Given the description of an element on the screen output the (x, y) to click on. 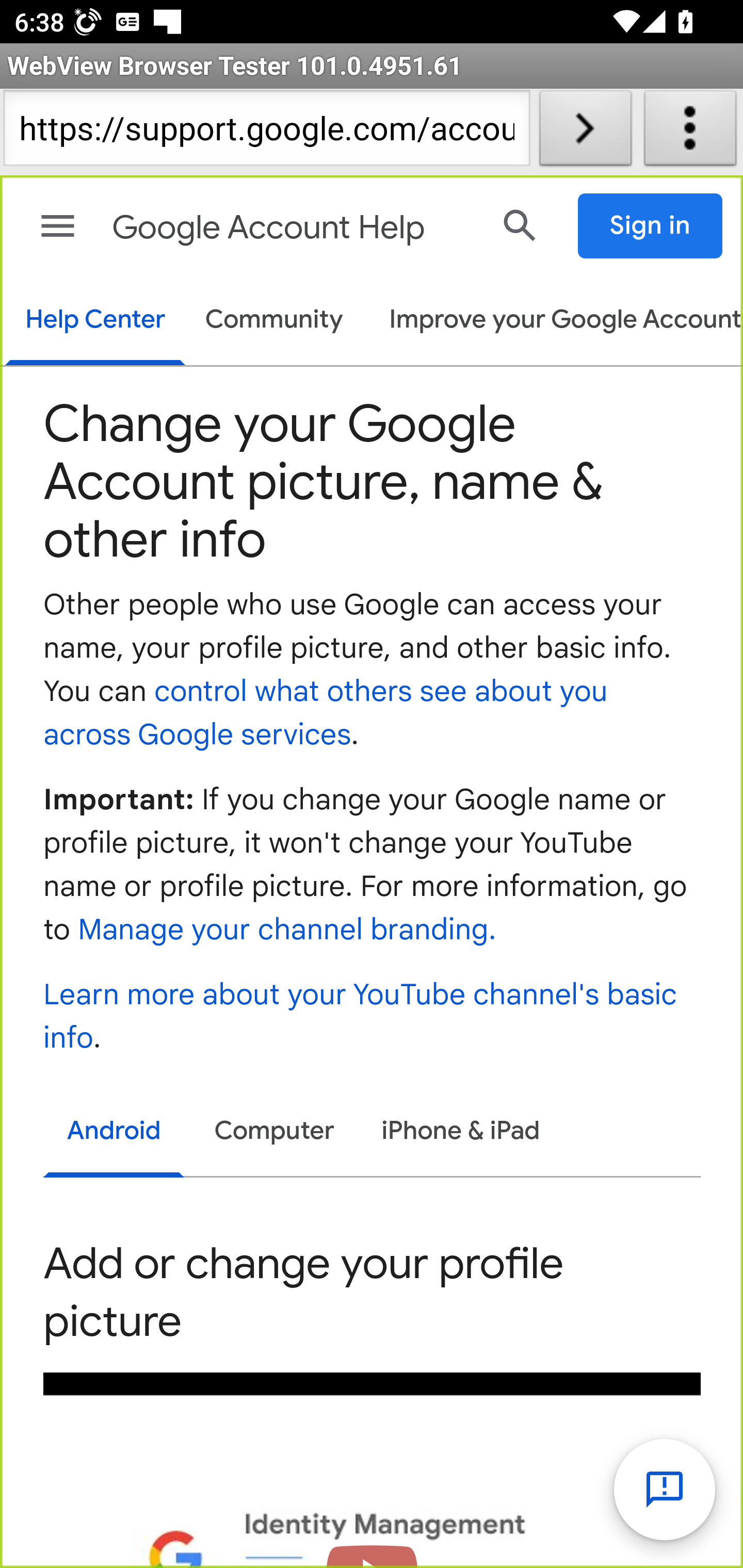
Load URL (585, 132)
About WebView (690, 132)
Main menu (58, 226)
Google Account Help (292, 227)
Search Help Center (519, 225)
Sign in (650, 226)
Help Center (94, 320)
Community (274, 320)
Improve your Google Account (555, 320)
Manage your channel branding. (285, 931)
Learn more about your YouTube channel's basic info (361, 1017)
Android (114, 1133)
Computer (273, 1132)
iPhone & iPad (460, 1132)
